Given the description of an element on the screen output the (x, y) to click on. 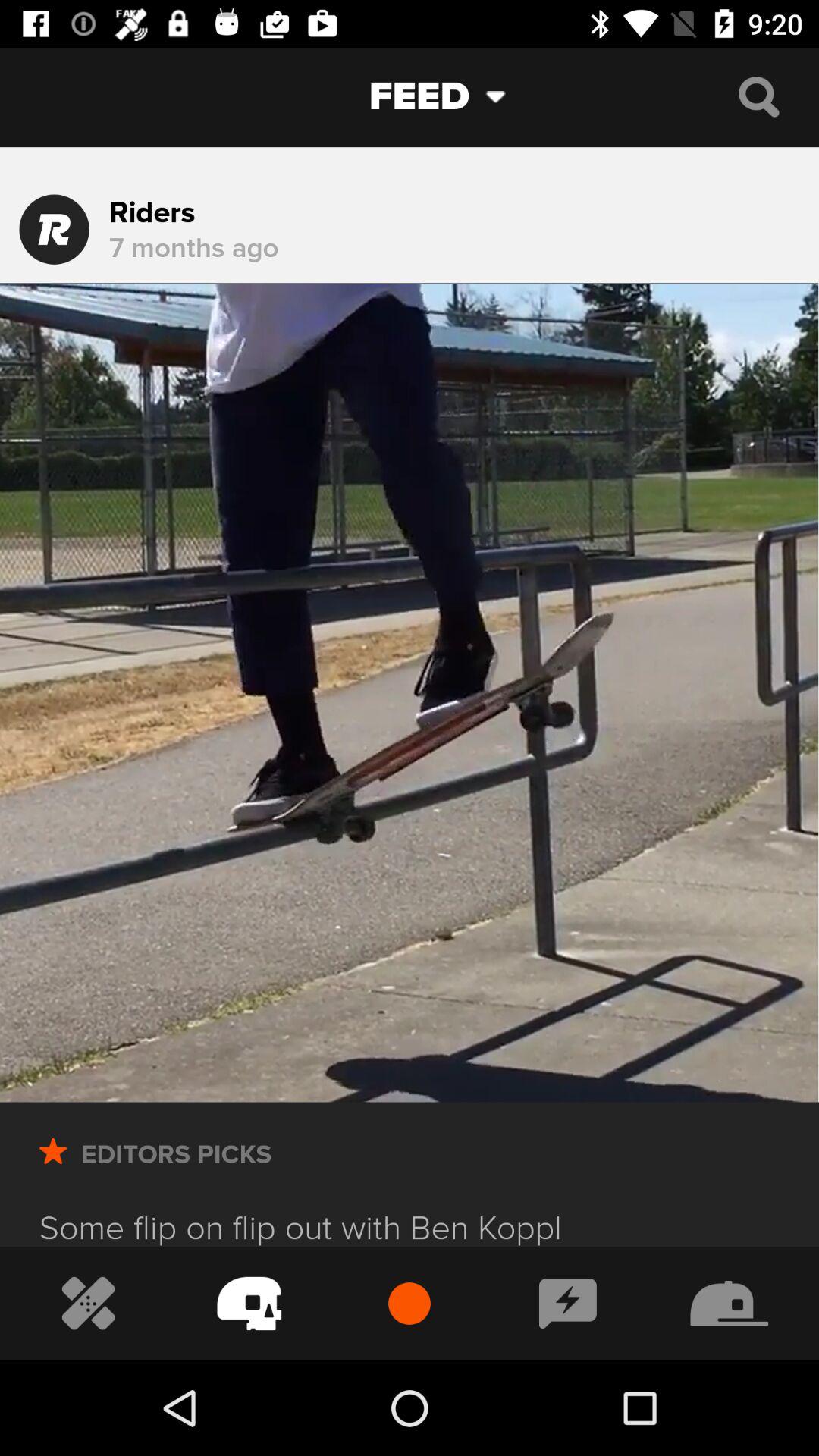
show cart (249, 1303)
